Given the description of an element on the screen output the (x, y) to click on. 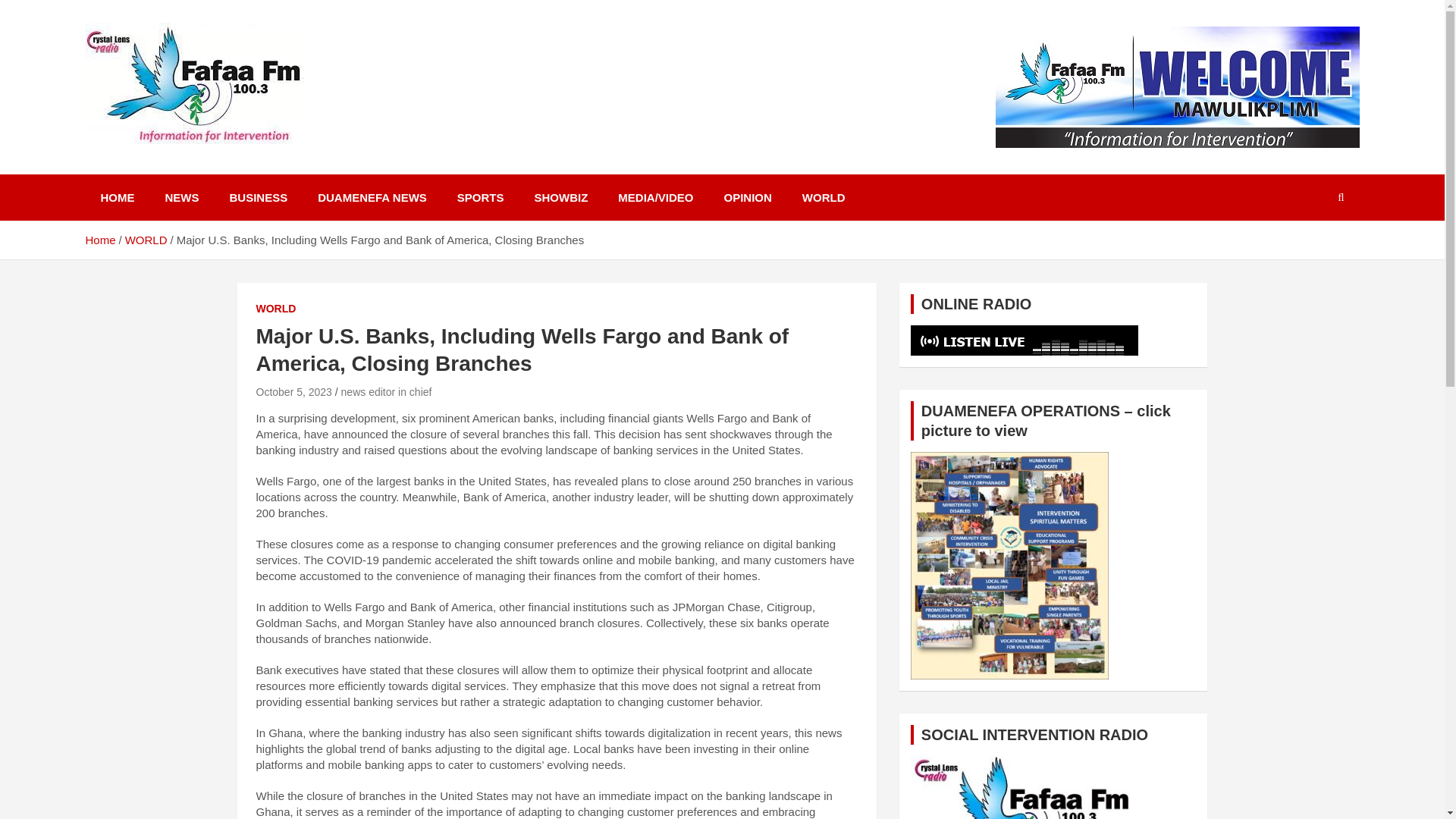
NEWS (181, 197)
Fafaa Fm (151, 171)
SPORTS (480, 197)
news editor in chief (386, 391)
Home (99, 239)
WORLD (276, 309)
BUSINESS (258, 197)
SHOWBIZ (560, 197)
WORLD (146, 239)
HOME (116, 197)
October 5, 2023 (293, 391)
DUAMENEFA NEWS (372, 197)
WORLD (823, 197)
